Given the description of an element on the screen output the (x, y) to click on. 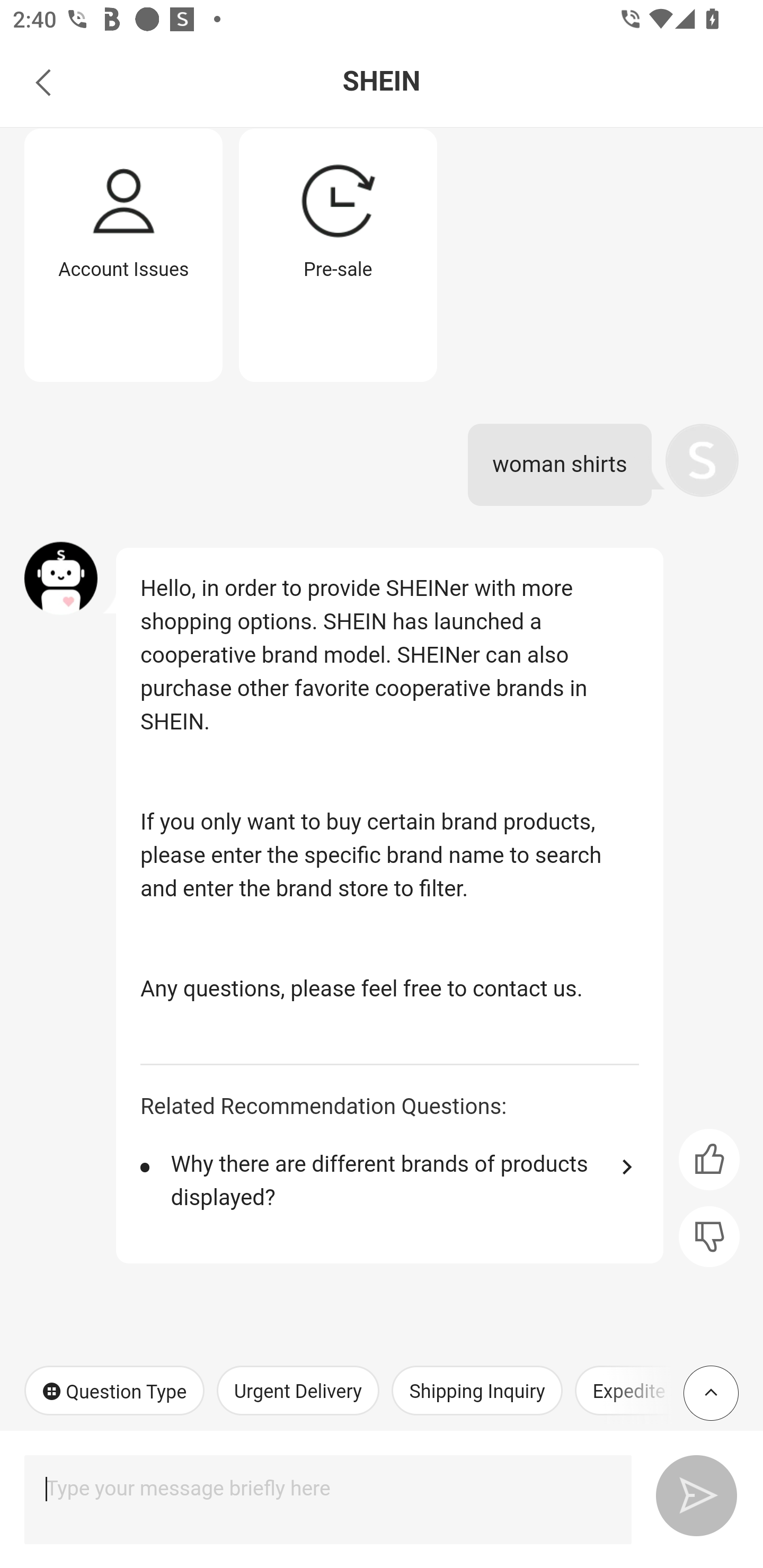
Back (43, 81)
 (708, 1159)
 (708, 1236)
Enter (688, 1492)
